Given the description of an element on the screen output the (x, y) to click on. 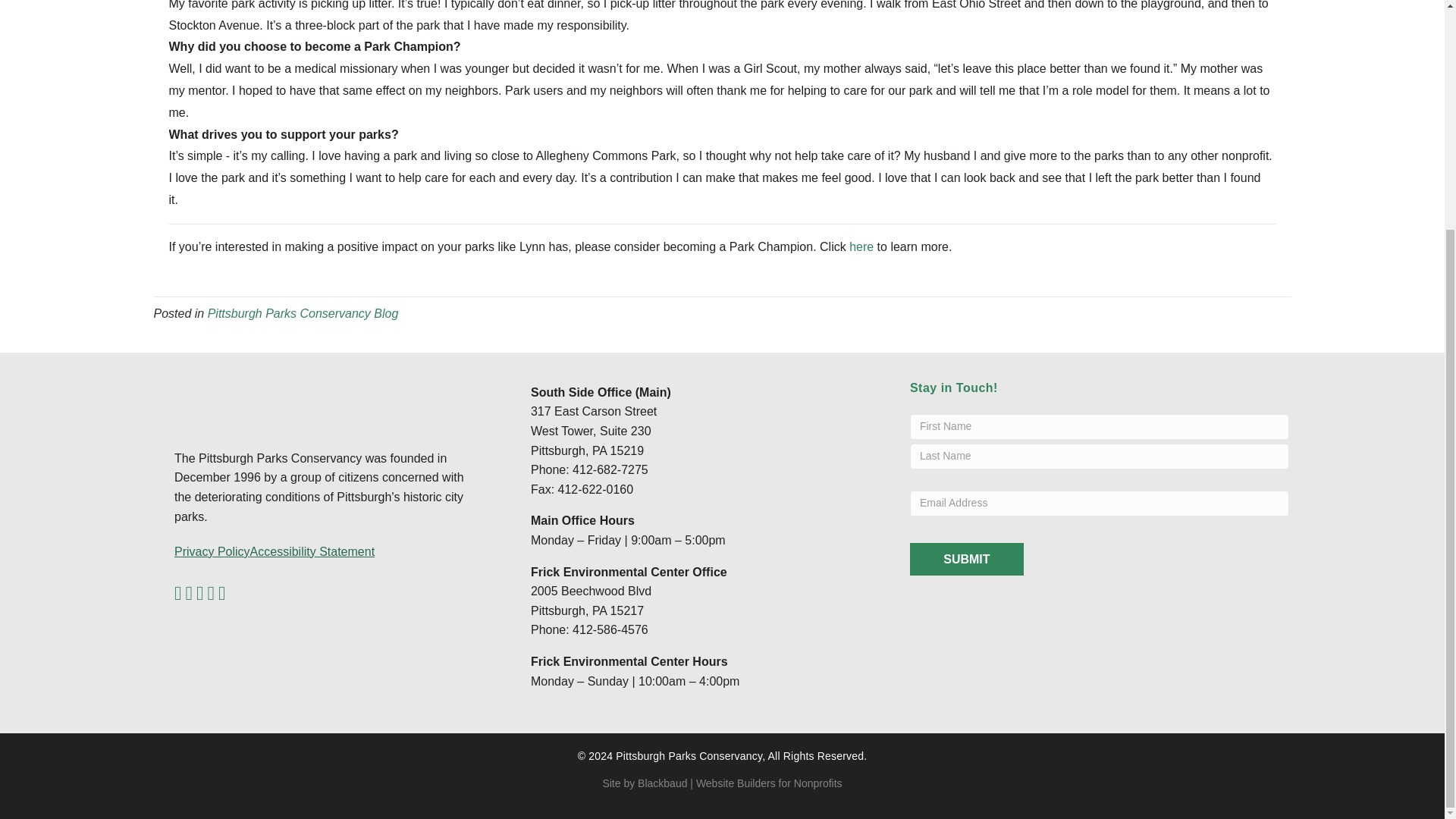
First Name (1099, 426)
Last Name (1099, 456)
Submit (966, 558)
PPC Logo Horizontal Cropped (250, 398)
Email Address (1099, 503)
